Given the description of an element on the screen output the (x, y) to click on. 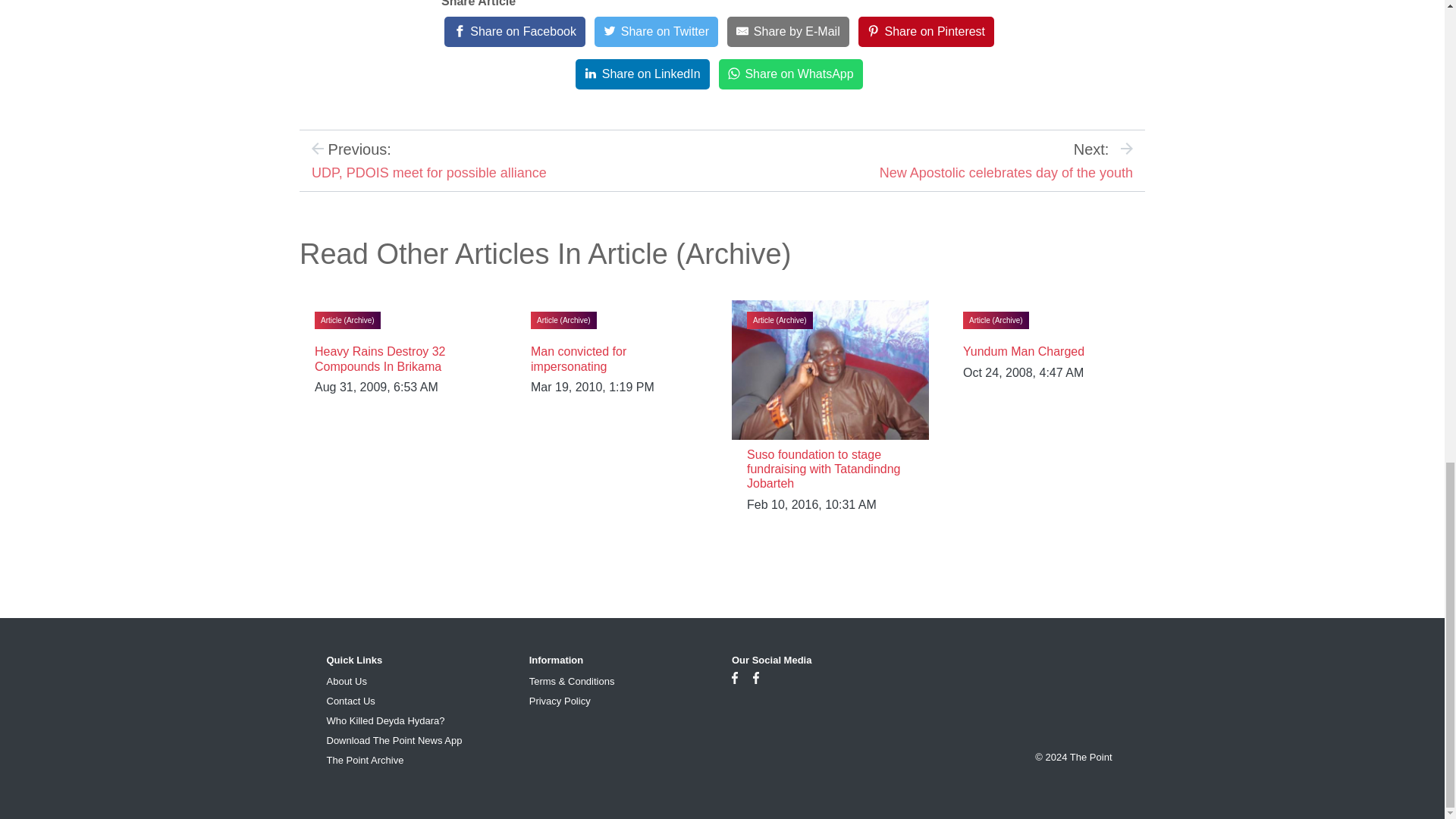
Share on WhatsApp (791, 73)
Share on Twitter (655, 31)
Heavy Rains Destroy 32 Compounds In Brikama (379, 358)
New Apostolic celebrates day of the youth (1005, 172)
Share on LinkedIn (642, 73)
About Us (346, 681)
UDP, PDOIS meet for possible alliance (429, 172)
Man convicted for impersonating (578, 358)
Share by E-Mail (787, 31)
